Given the description of an element on the screen output the (x, y) to click on. 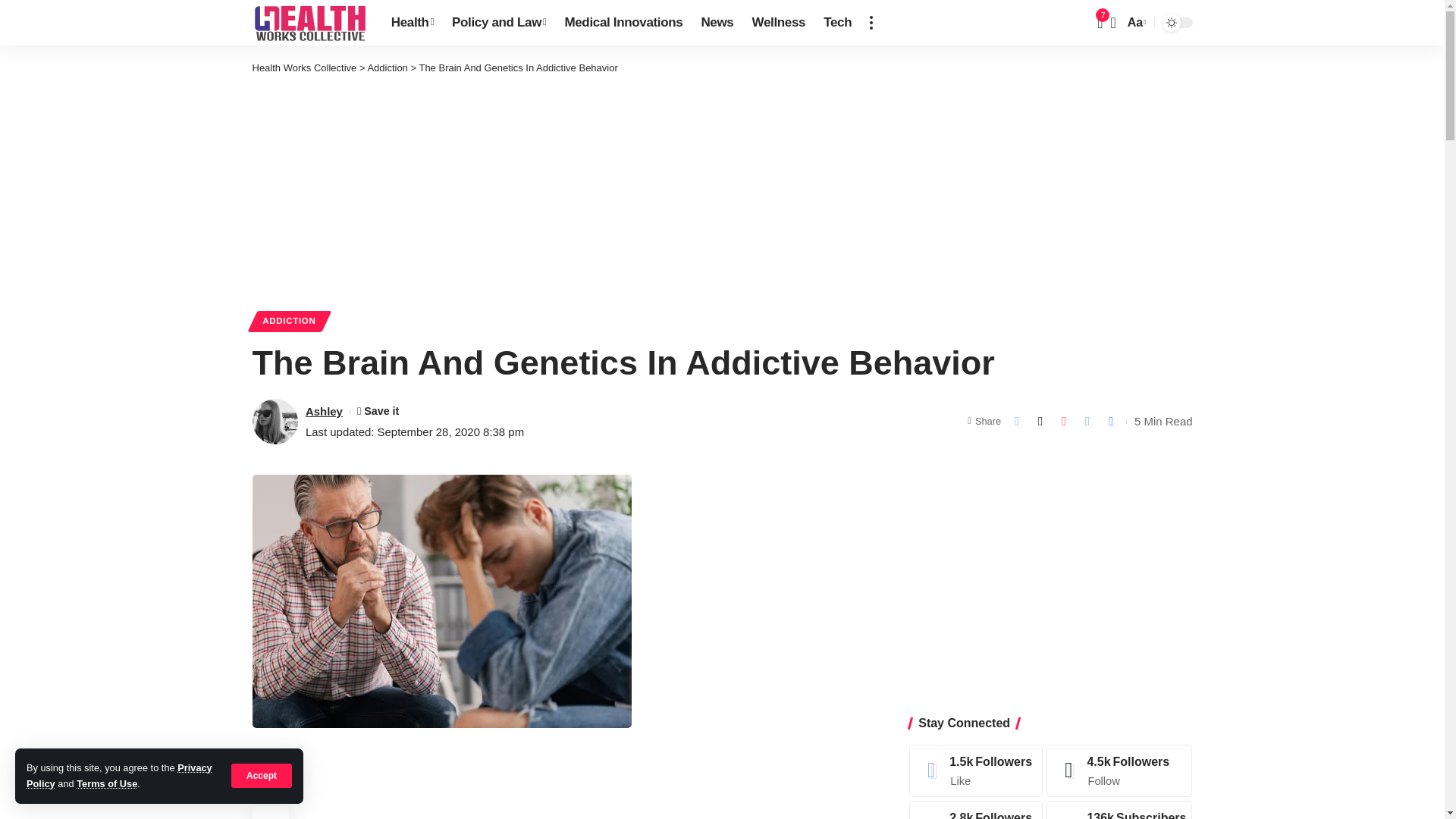
Tech (836, 22)
Health Works Collective (308, 22)
Accept (261, 775)
Privacy Policy (119, 775)
Wellness (778, 22)
Medical Innovations (622, 22)
Terms of Use (106, 783)
Health (411, 22)
News (716, 22)
Policy and Law (498, 22)
Go to Health Works Collective. (303, 67)
